Given the description of an element on the screen output the (x, y) to click on. 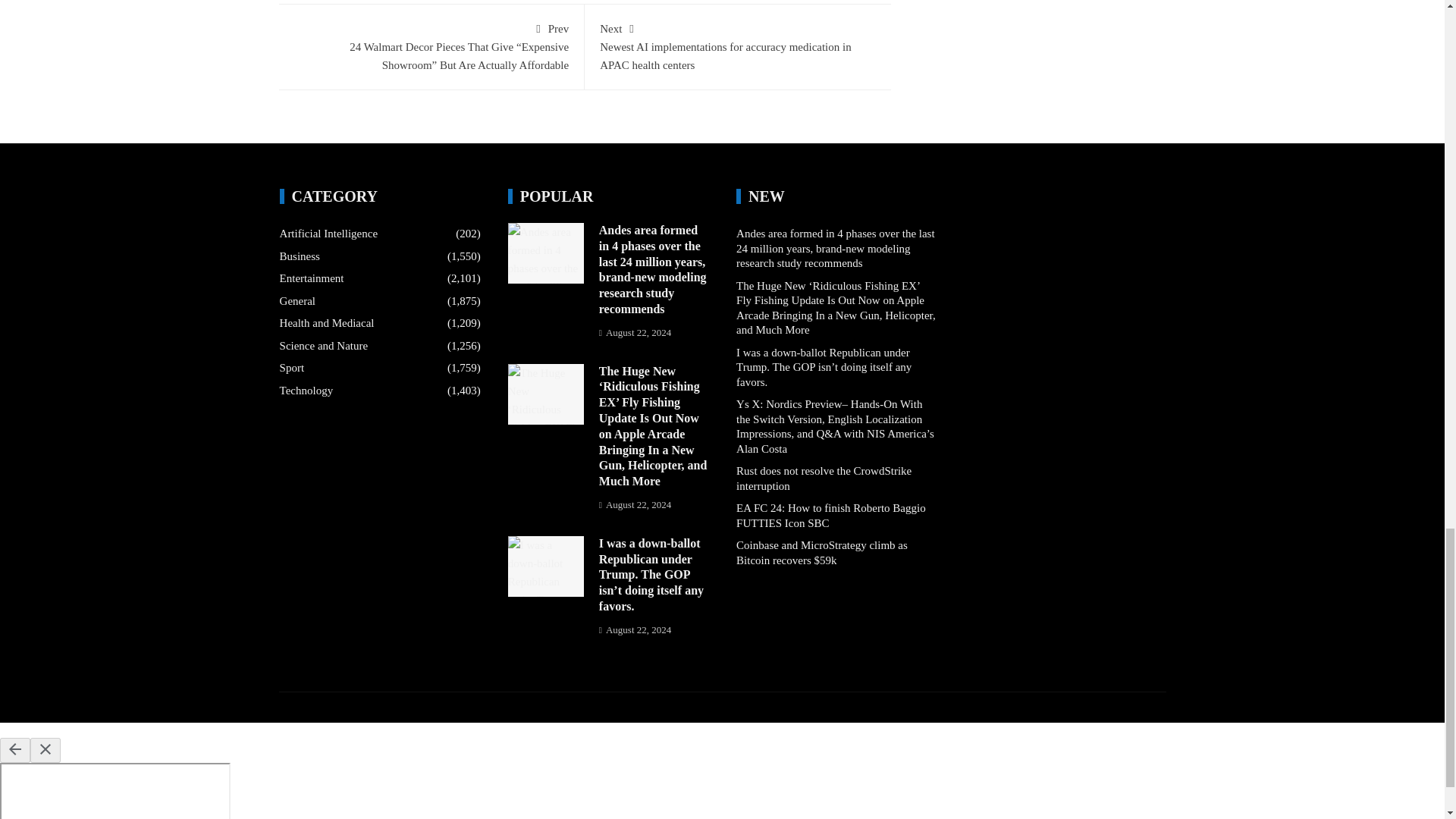
Business (299, 256)
Technology (306, 391)
Health and Mediacal (326, 323)
Science and Nature (323, 346)
Sport (291, 368)
General (297, 301)
Artificial Intelligence (328, 233)
Entertainment (311, 278)
